Given the description of an element on the screen output the (x, y) to click on. 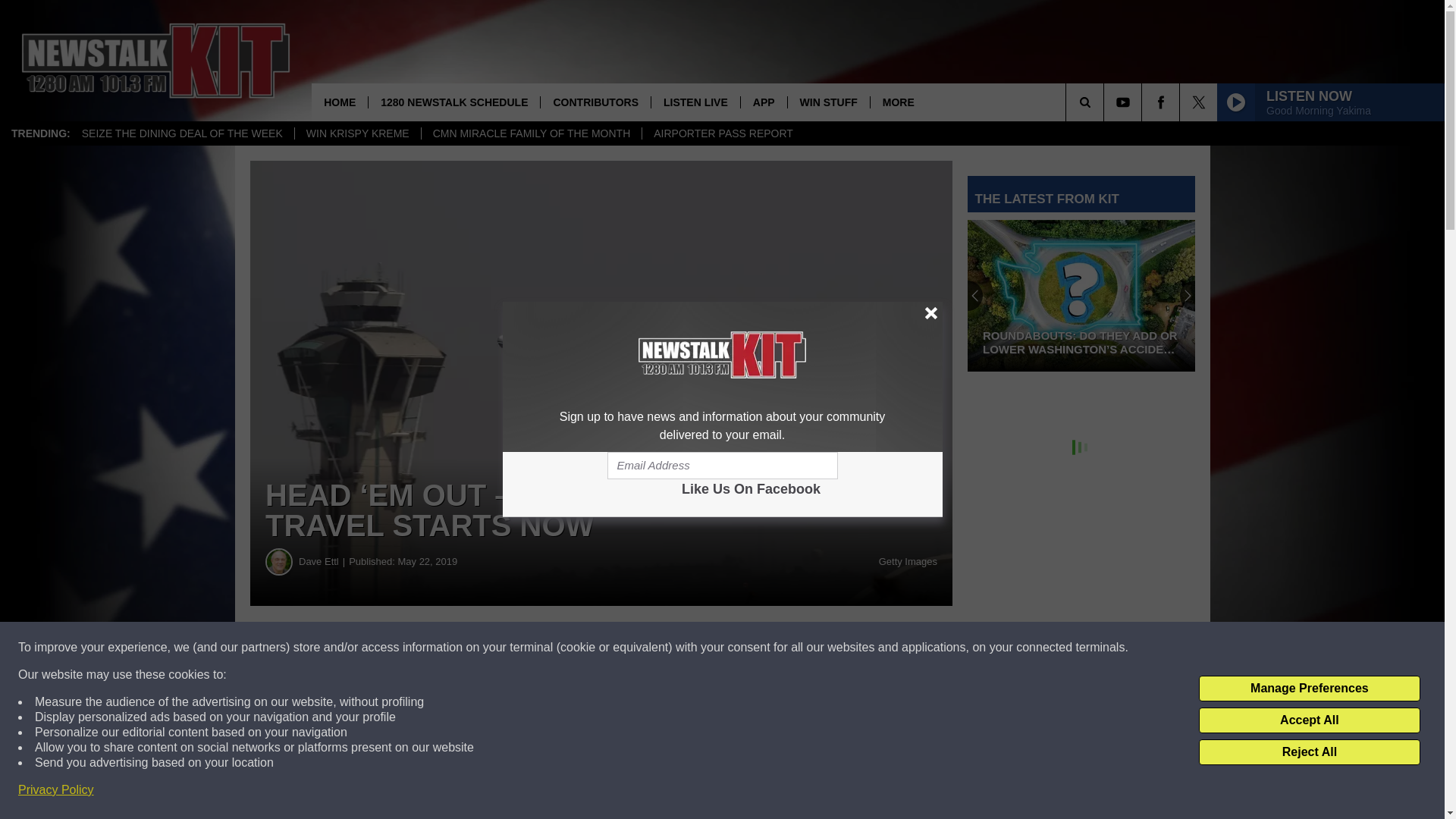
Email Address (722, 465)
CONTRIBUTORS (595, 102)
Privacy Policy (55, 789)
CMN MIRACLE FAMILY OF THE MONTH (531, 133)
LISTEN LIVE (694, 102)
Share on Twitter (741, 647)
Manage Preferences (1309, 688)
Accept All (1309, 720)
SEARCH (1106, 102)
WIN KRISPY KREME (357, 133)
HOME (339, 102)
1280 NEWSTALK SCHEDULE (454, 102)
SEARCH (1106, 102)
Share on Facebook (460, 647)
SEIZE THE DINING DEAL OF THE WEEK (181, 133)
